Given the description of an element on the screen output the (x, y) to click on. 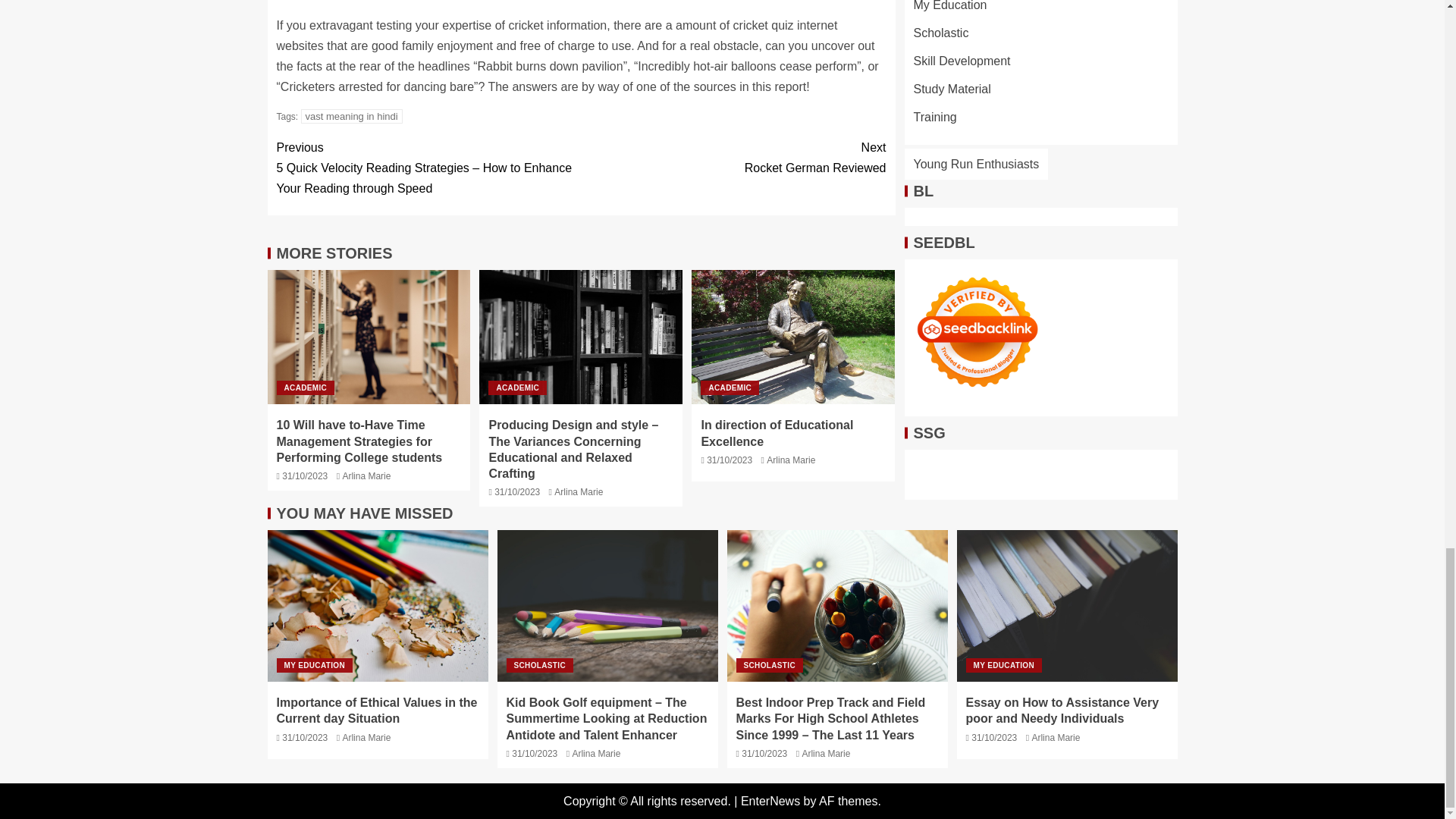
In direction of Educational Excellence (793, 337)
Arlina Marie (578, 491)
Importance of Ethical Values in the Current day Situation (376, 605)
ACADEMIC (305, 387)
Seedbacklink (732, 157)
Essay on How to Assistance Very poor and Needy Individuals (976, 24)
In direction of Educational Excellence (1066, 605)
Arlina Marie (776, 432)
ACADEMIC (791, 460)
Arlina Marie (729, 387)
ACADEMIC (366, 475)
vast meaning in hindi (517, 387)
